Given the description of an element on the screen output the (x, y) to click on. 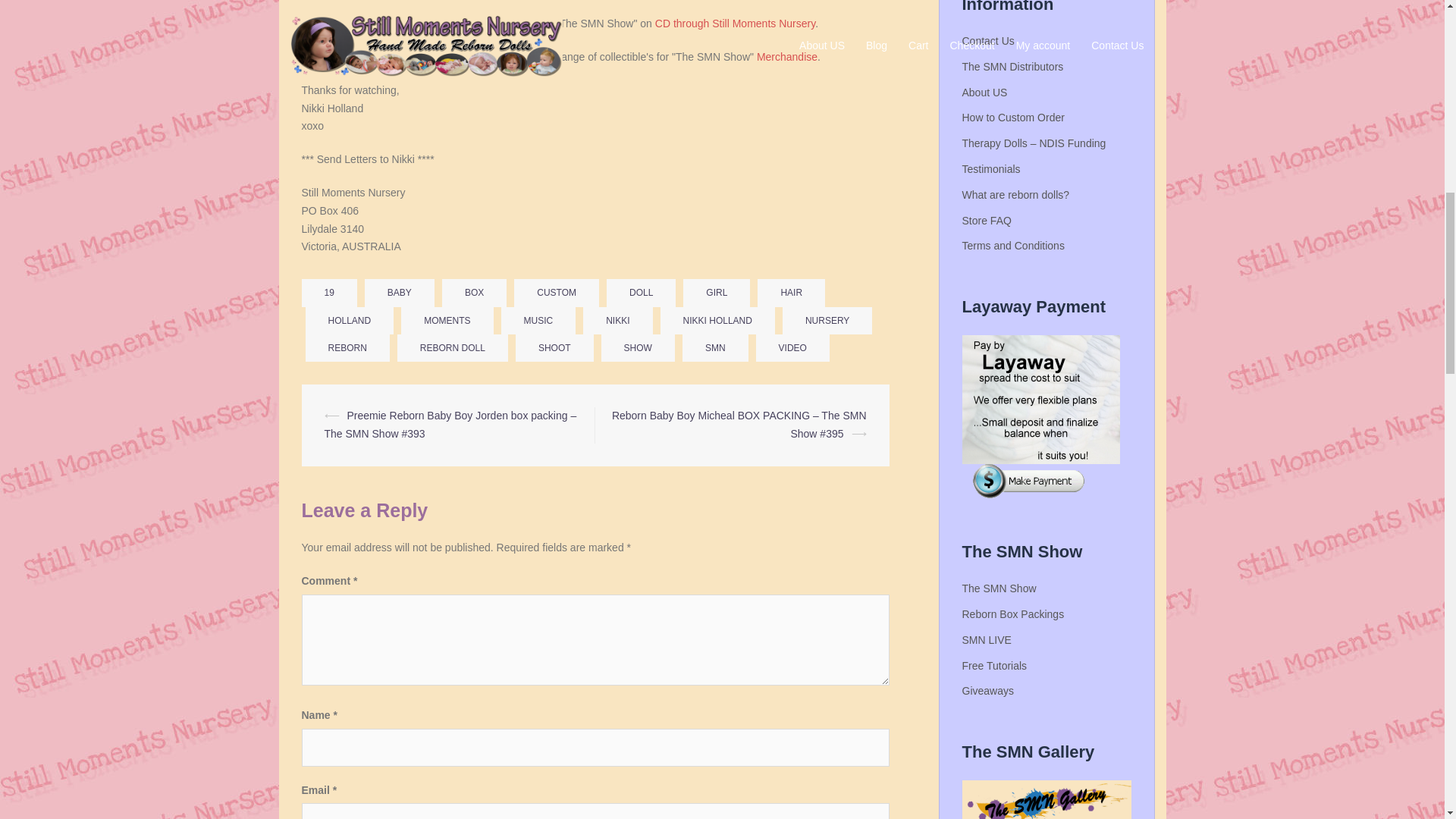
DOLL (641, 292)
NIKKI HOLLAND (717, 320)
REBORN DOLL (452, 347)
BABY (399, 292)
NURSERY (827, 320)
MOMENTS (447, 320)
HOLLAND (348, 320)
SHOOT (554, 347)
VIDEO (792, 347)
CUSTOM (555, 292)
Merchandise (786, 56)
CD through Still Moments Nursery (735, 23)
GIRL (715, 292)
SHOW (638, 347)
NIKKI (617, 320)
